Given the description of an element on the screen output the (x, y) to click on. 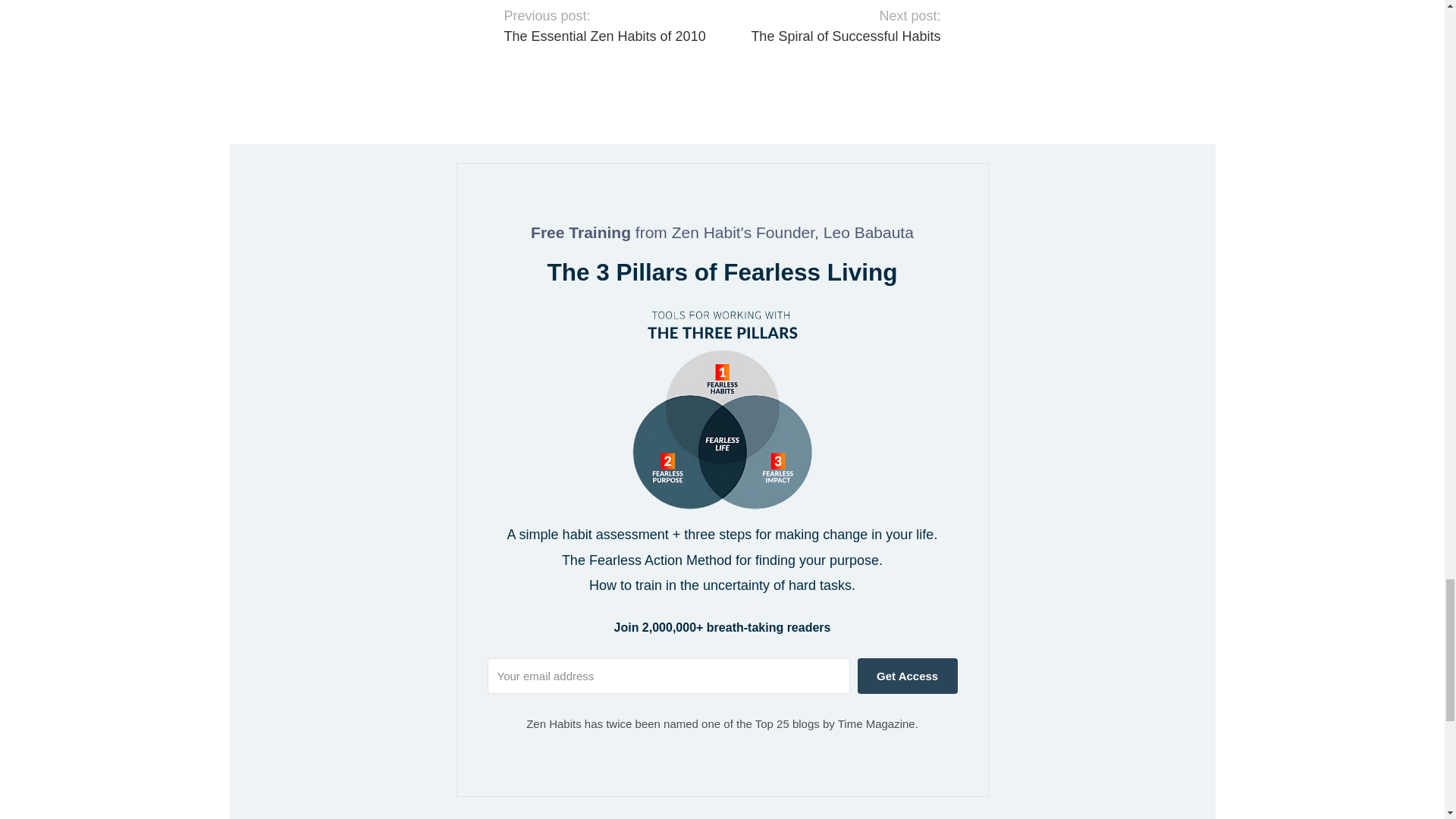
Get Access (907, 675)
The Essential Zen Habits of 2010 (603, 36)
The Spiral of Successful Habits (845, 36)
